Given the description of an element on the screen output the (x, y) to click on. 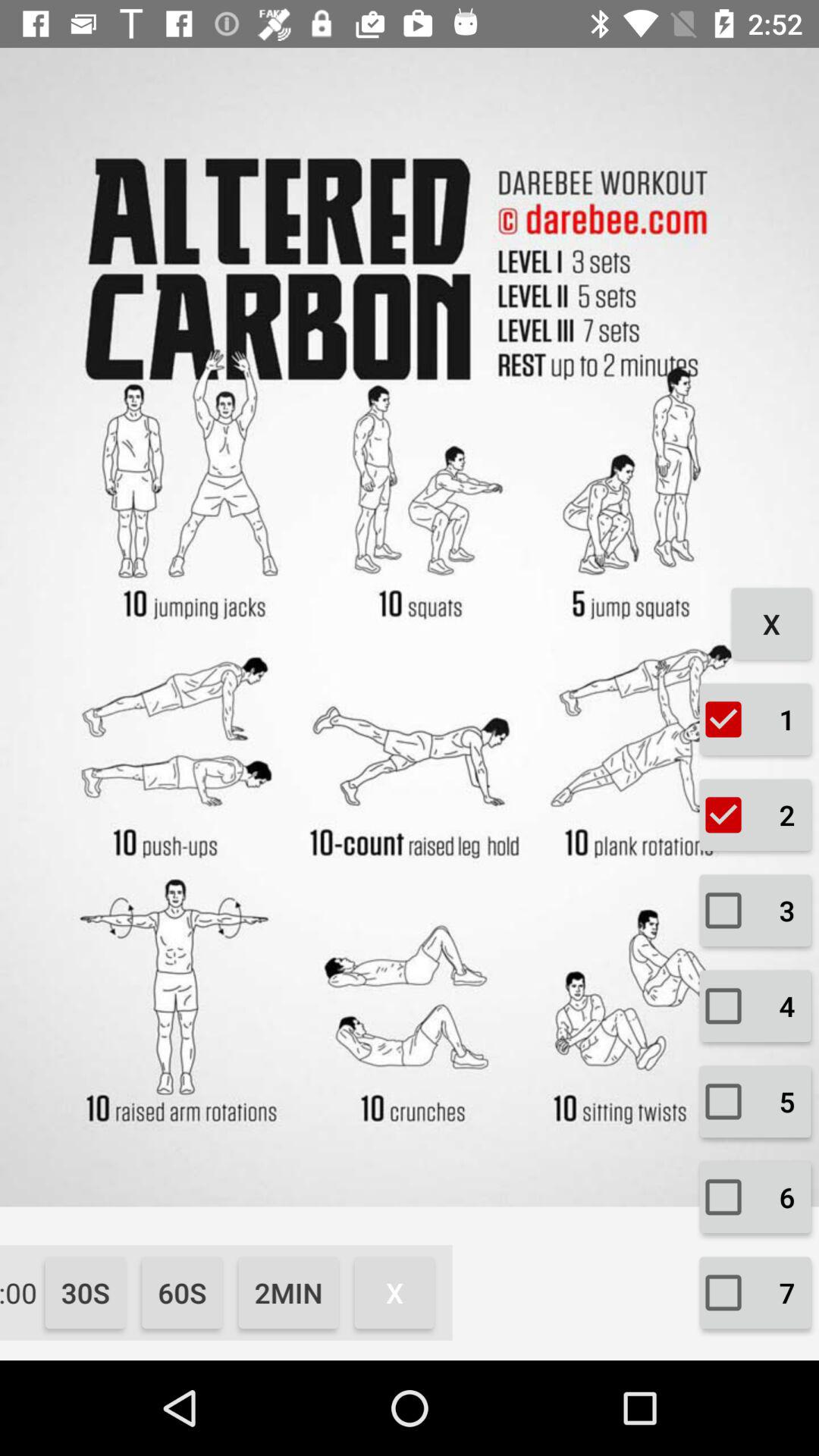
select the checkbox which is below the check box 1 (755, 815)
select the second button and text which is at the bottom right corner (755, 1197)
go to the check box below text x (755, 719)
